Given the description of an element on the screen output the (x, y) to click on. 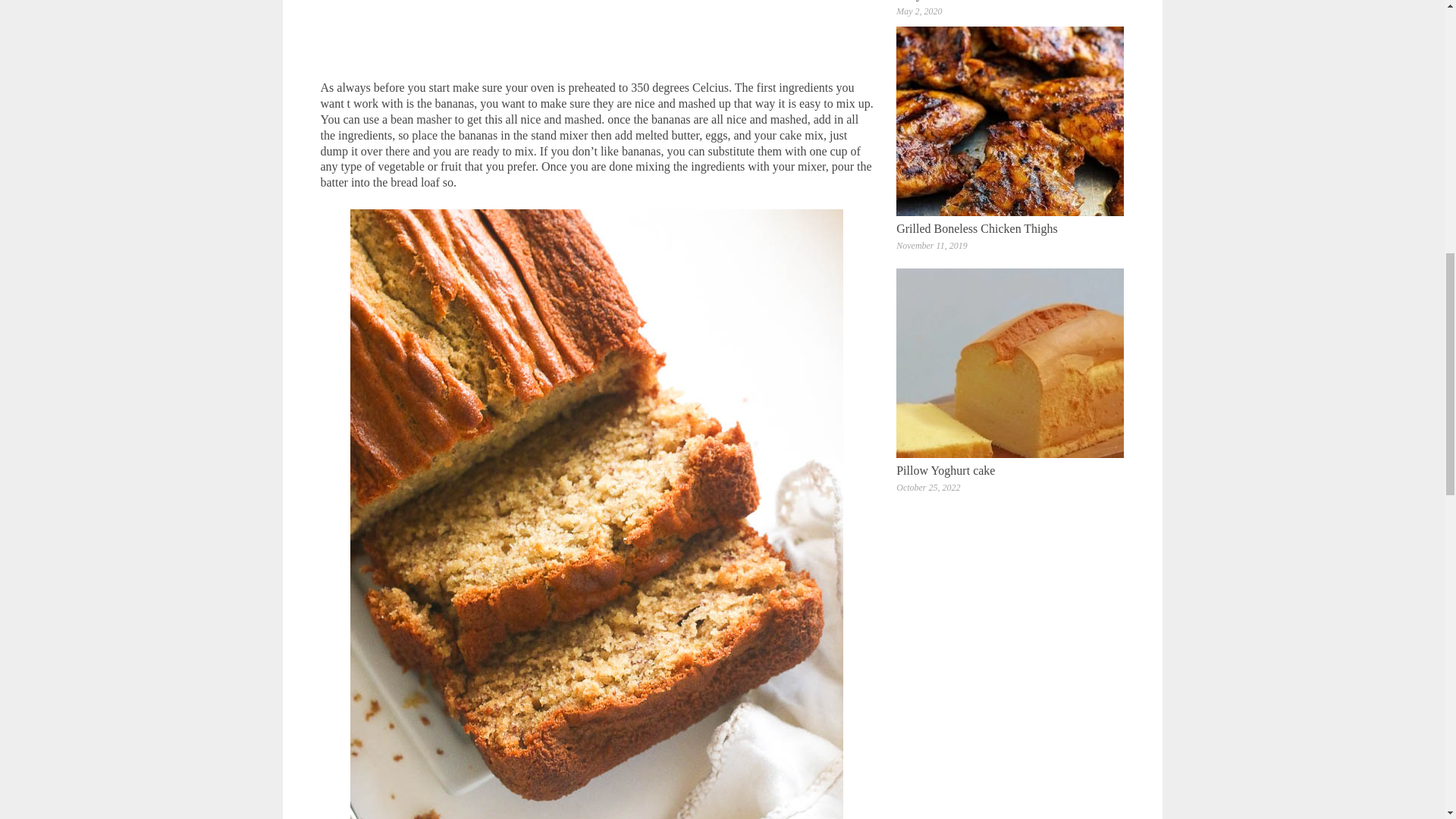
Advertisement (596, 37)
